Given the description of an element on the screen output the (x, y) to click on. 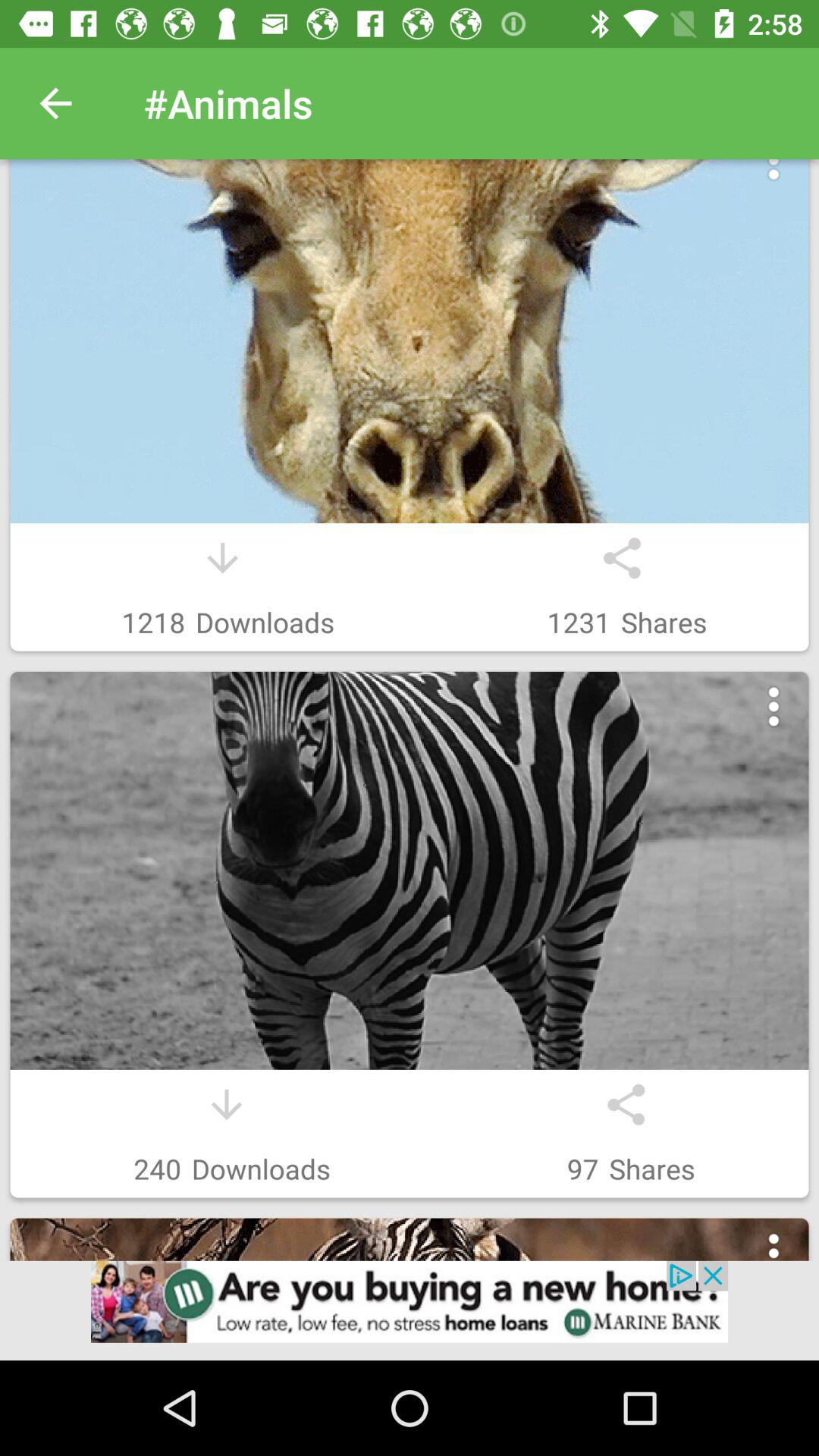
click on advertisement (409, 1310)
